Given the description of an element on the screen output the (x, y) to click on. 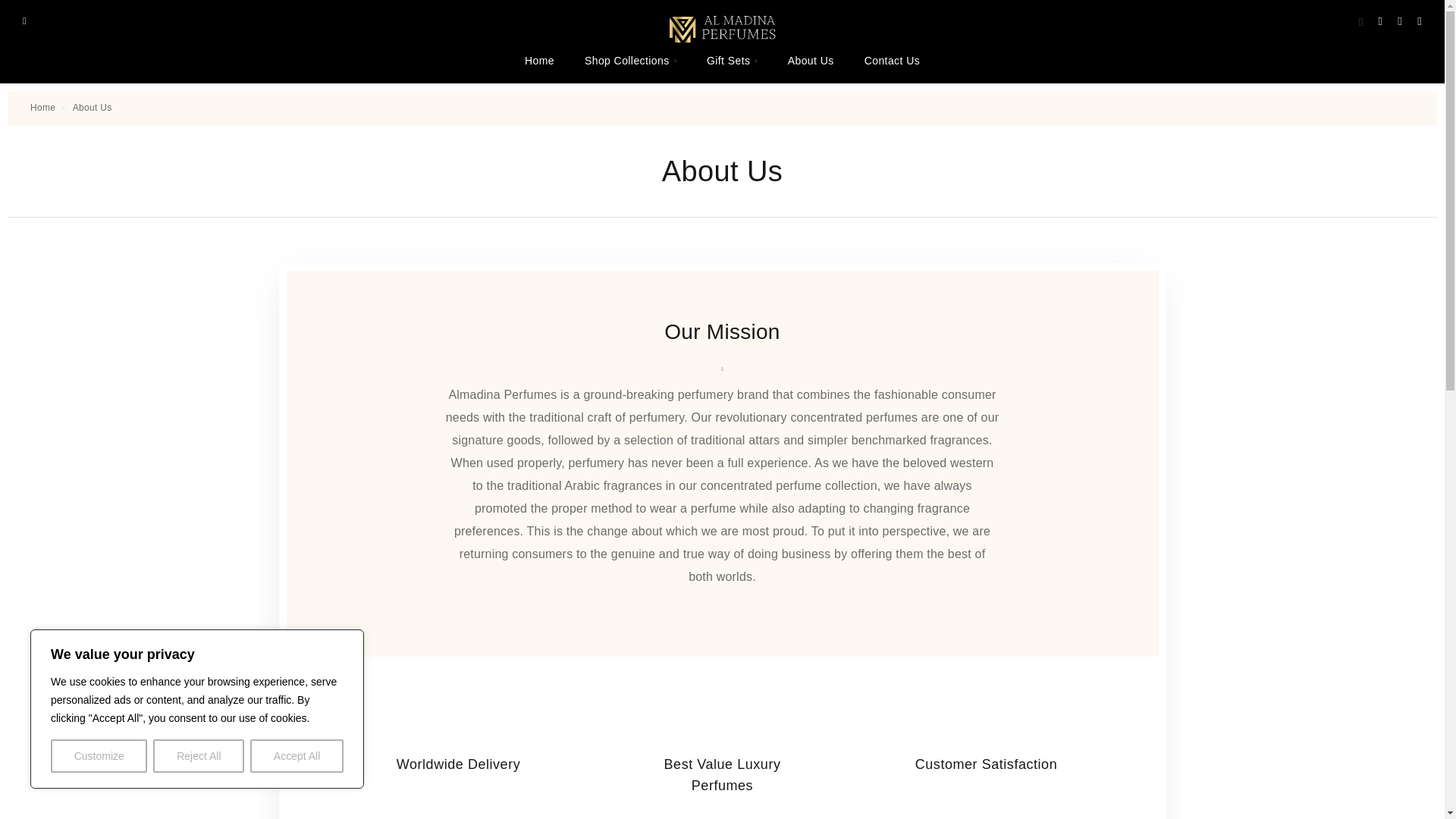
Login (1380, 21)
Reject All (198, 756)
Accept All (296, 756)
Customize (98, 756)
